Given the description of an element on the screen output the (x, y) to click on. 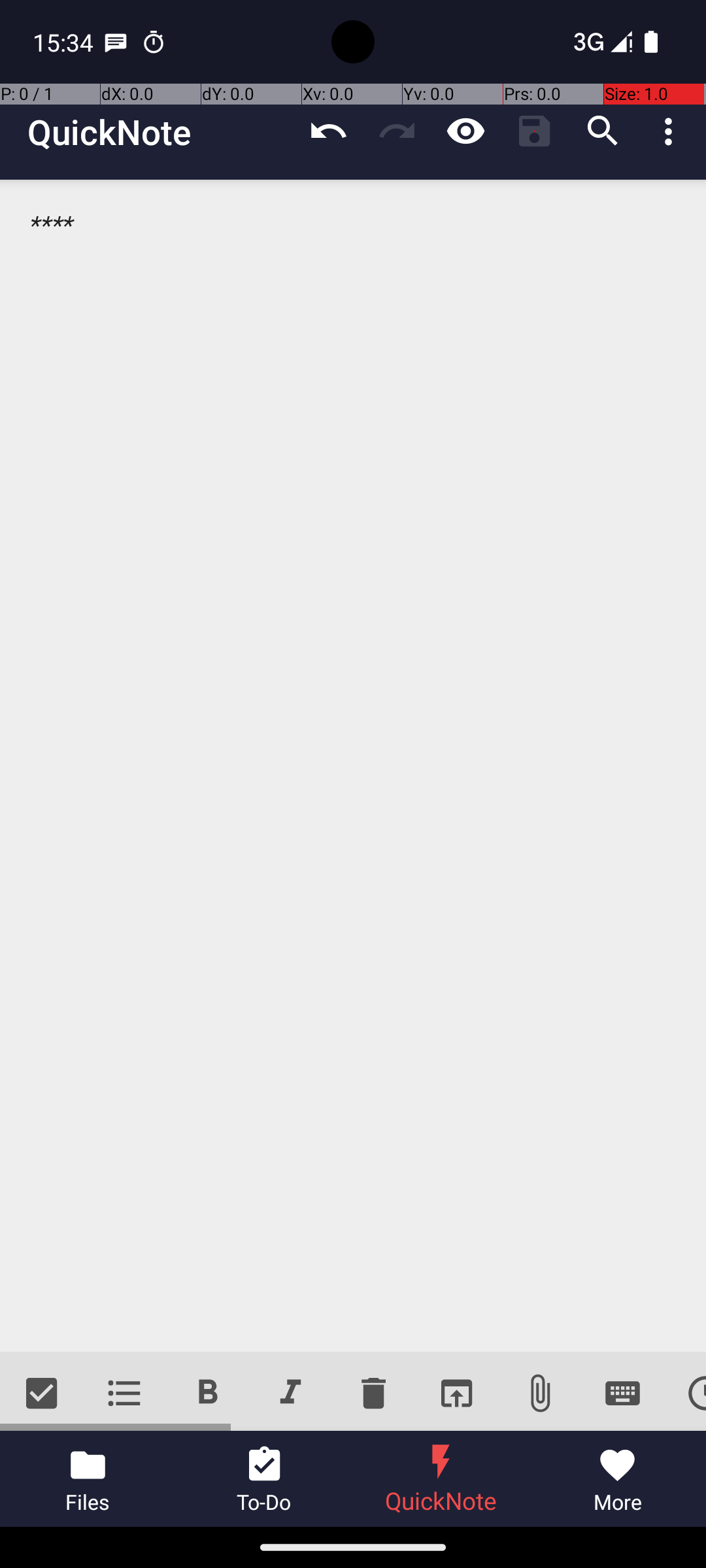
**** Element type: android.widget.EditText (353, 765)
